Given the description of an element on the screen output the (x, y) to click on. 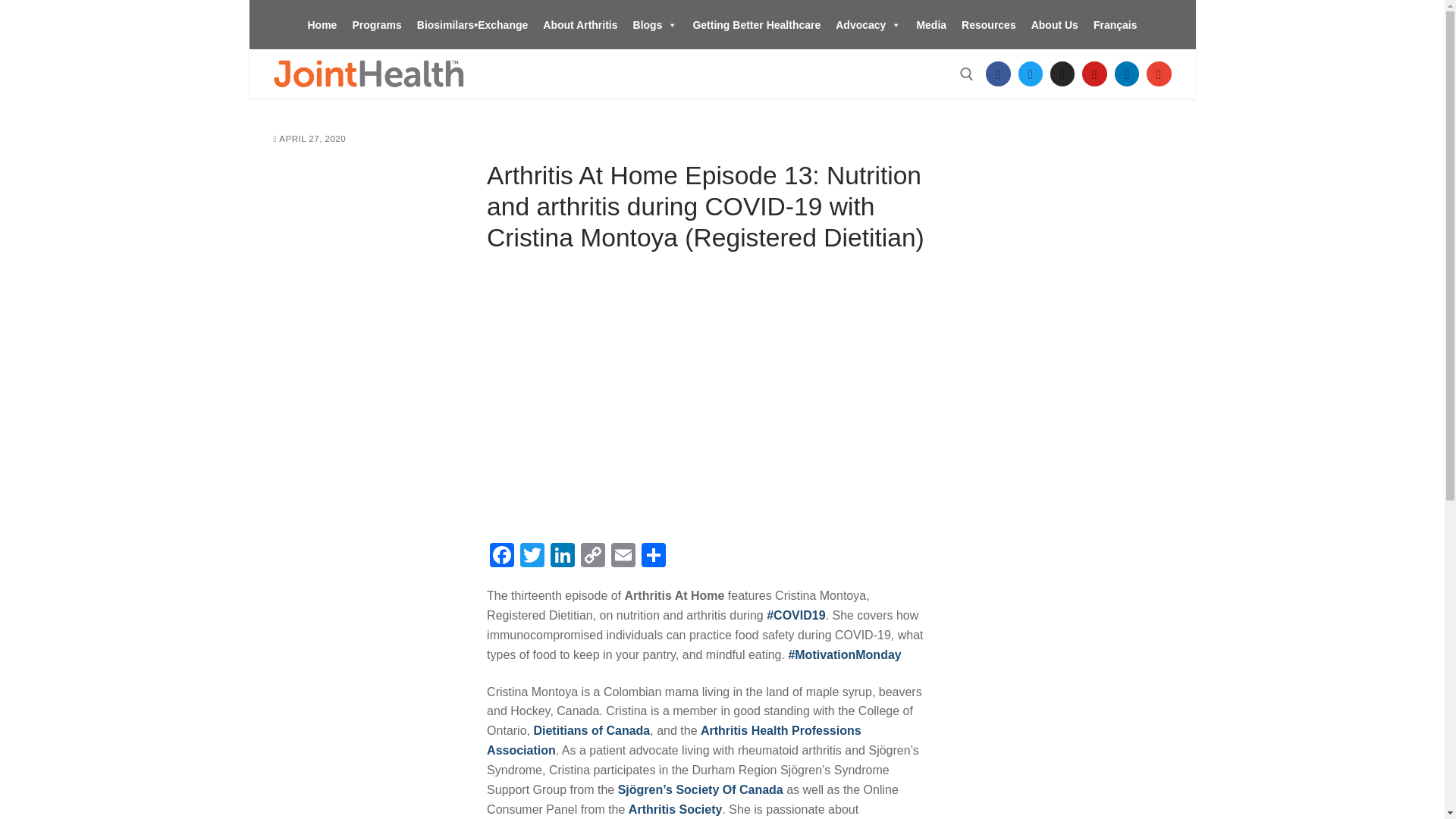
Media (930, 24)
Twitter (531, 556)
APRIL 27, 2020 (309, 138)
Home (322, 24)
Copy Link (593, 556)
Twitter (531, 556)
Facebook (501, 556)
LinkedIn (1126, 74)
Resources (988, 24)
Programs (376, 24)
Email (623, 556)
About Us (1054, 24)
About Arthritis (579, 24)
Getting Better Healthcare (756, 24)
Facebook (997, 74)
